Given the description of an element on the screen output the (x, y) to click on. 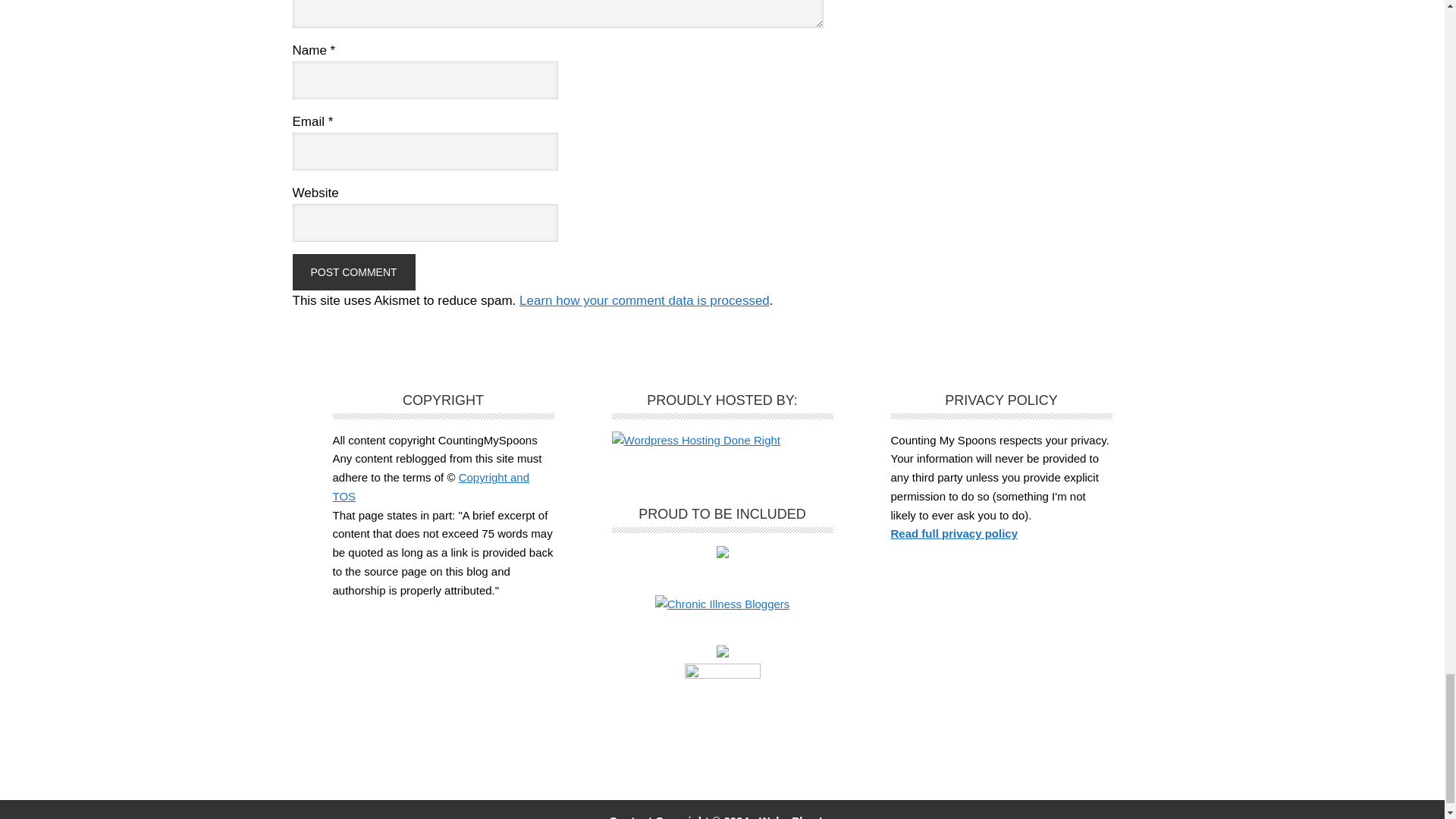
Post Comment (353, 271)
Chronic Illness Bloggers (722, 603)
